Given the description of an element on the screen output the (x, y) to click on. 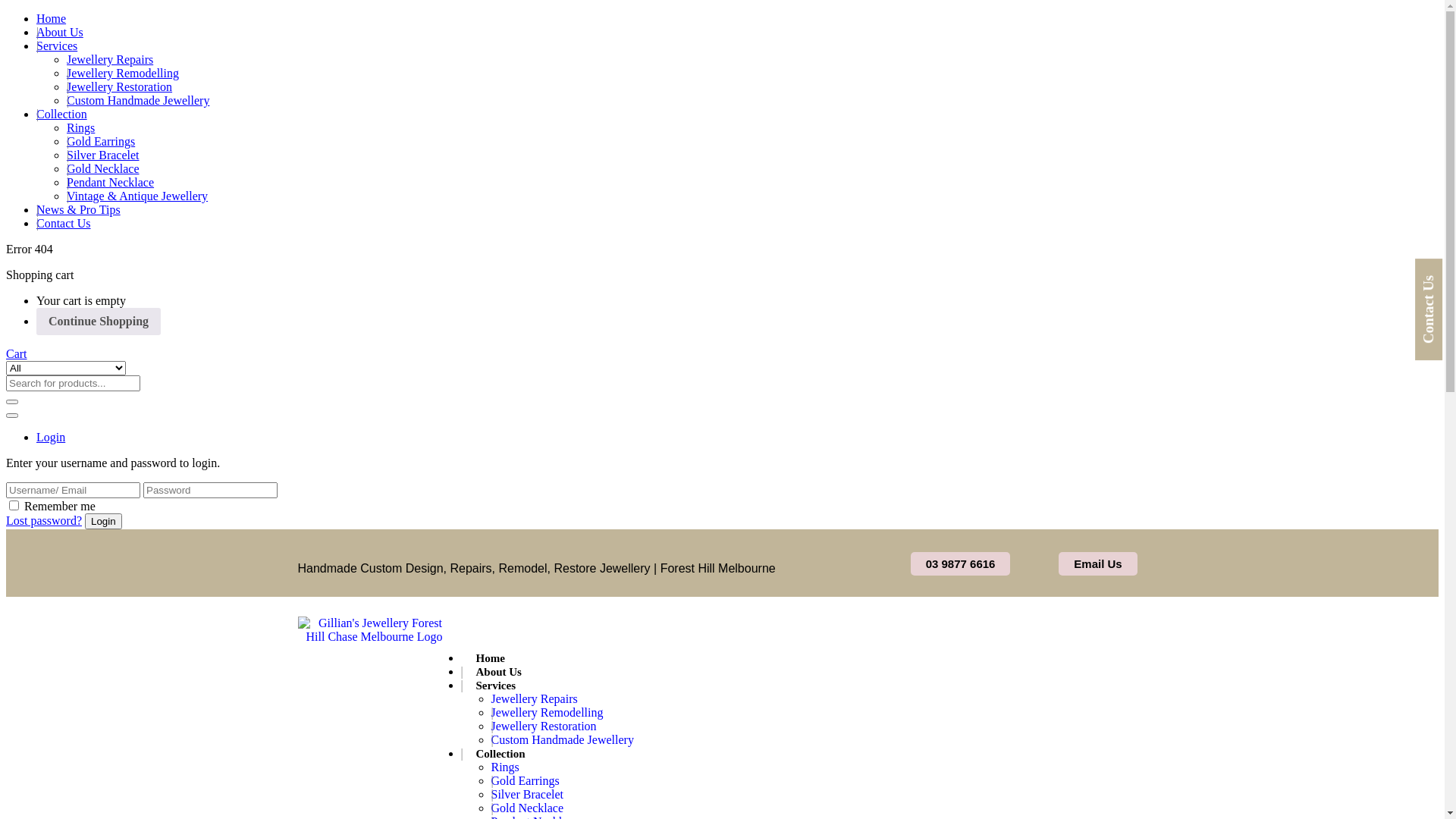
Custom Handmade Jewellery Element type: text (137, 100)
Services Element type: text (499, 686)
Vintage & Antique Jewellery Element type: text (136, 195)
03 9877 6616 Element type: text (960, 563)
Rings Element type: text (509, 768)
Jewellery Remodelling Element type: text (122, 72)
Silver Bracelet Element type: text (102, 154)
Silver Bracelet Element type: text (531, 795)
News & Pro Tips Element type: text (78, 209)
About Us Element type: text (502, 672)
Email Us Element type: text (1097, 563)
Cart Element type: text (16, 353)
Jewellery Restoration Element type: text (547, 727)
Gold Earrings Element type: text (529, 781)
Home Element type: text (494, 658)
Jewellery Repairs Element type: text (538, 699)
Login Element type: text (103, 521)
Gold Earrings Element type: text (100, 140)
Pendant Necklace Element type: text (109, 181)
Jewellery Repairs Element type: text (109, 59)
Gold Necklace Element type: text (102, 168)
About Us Element type: text (59, 31)
Jewellery Remodelling Element type: text (551, 713)
Rings Element type: text (80, 127)
Services Element type: text (56, 45)
Continue Shopping Element type: text (98, 321)
Custom Handmade Jewellery Element type: text (566, 740)
Collection Element type: text (504, 754)
Login Element type: text (50, 436)
Jewellery Restoration Element type: text (119, 86)
Collection Element type: text (61, 113)
Lost password? Element type: text (43, 520)
Home Element type: text (50, 18)
Contact Us Element type: text (63, 222)
